Given the description of an element on the screen output the (x, y) to click on. 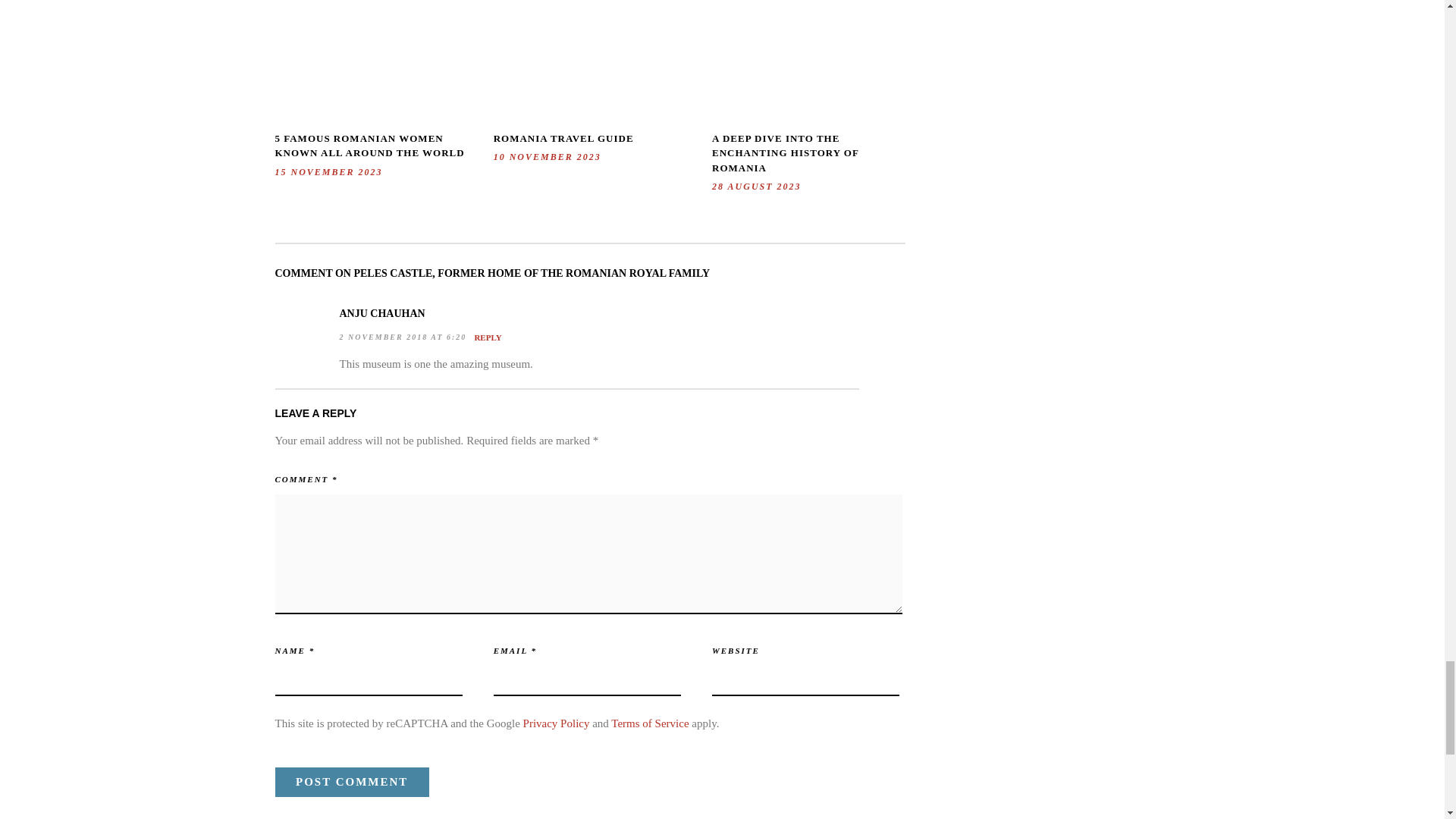
Post Comment (351, 781)
Romania travel guide (563, 138)
A deep dive into the enchanting history of Romania (785, 152)
5 Famous Romanian women known all around the world (369, 145)
